Given the description of an element on the screen output the (x, y) to click on. 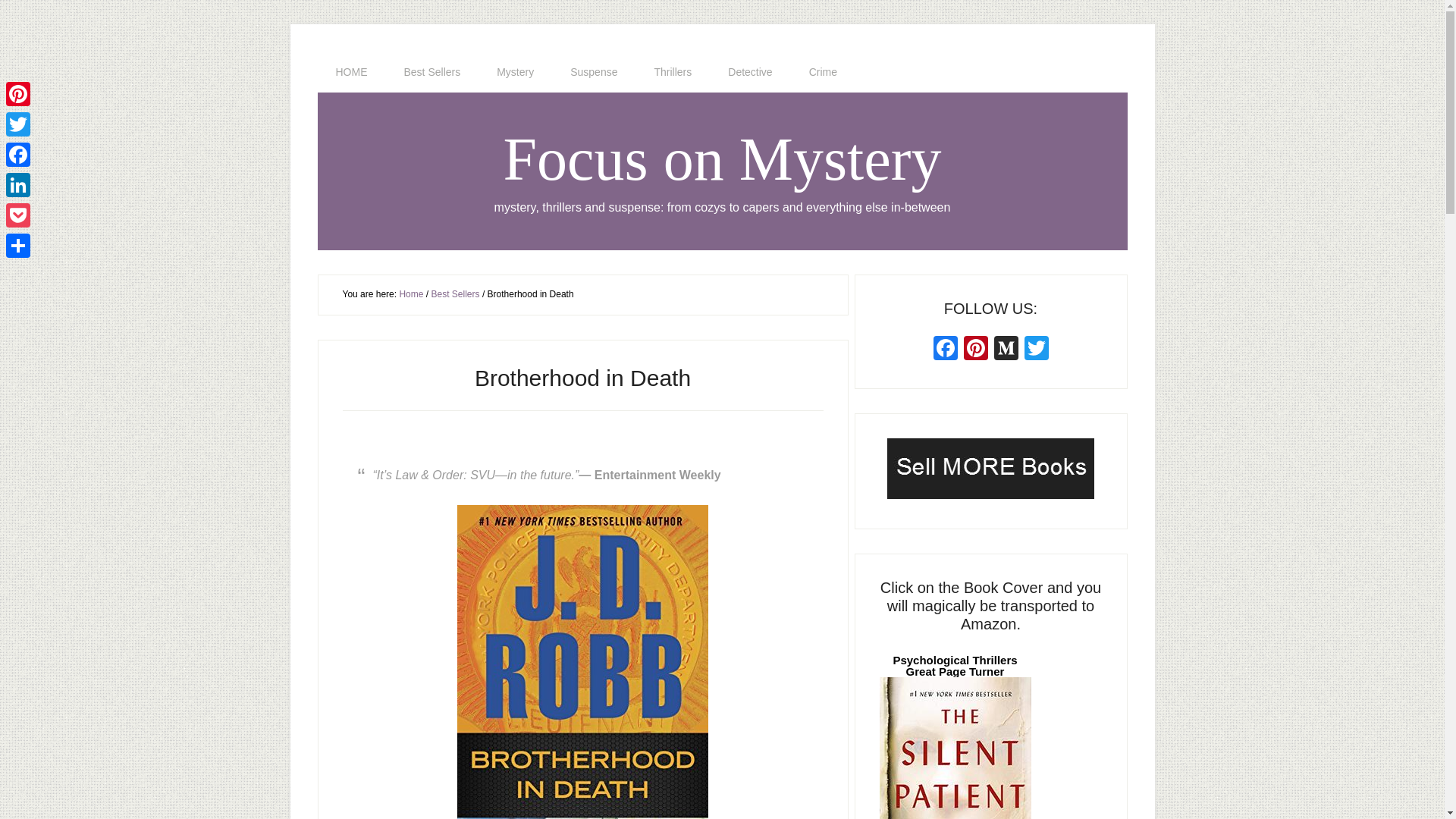
Facebook (17, 154)
Thrillers (672, 71)
Twitter (1035, 349)
HOME (351, 71)
Facebook (944, 349)
Crime (823, 71)
Twitter (17, 123)
LinkedIn (17, 184)
Pinterest (17, 93)
Medium (1005, 349)
Best Sellers (432, 71)
Focus on Mystery (722, 159)
Home (410, 294)
Facebook (17, 154)
Suspense (592, 71)
